Given the description of an element on the screen output the (x, y) to click on. 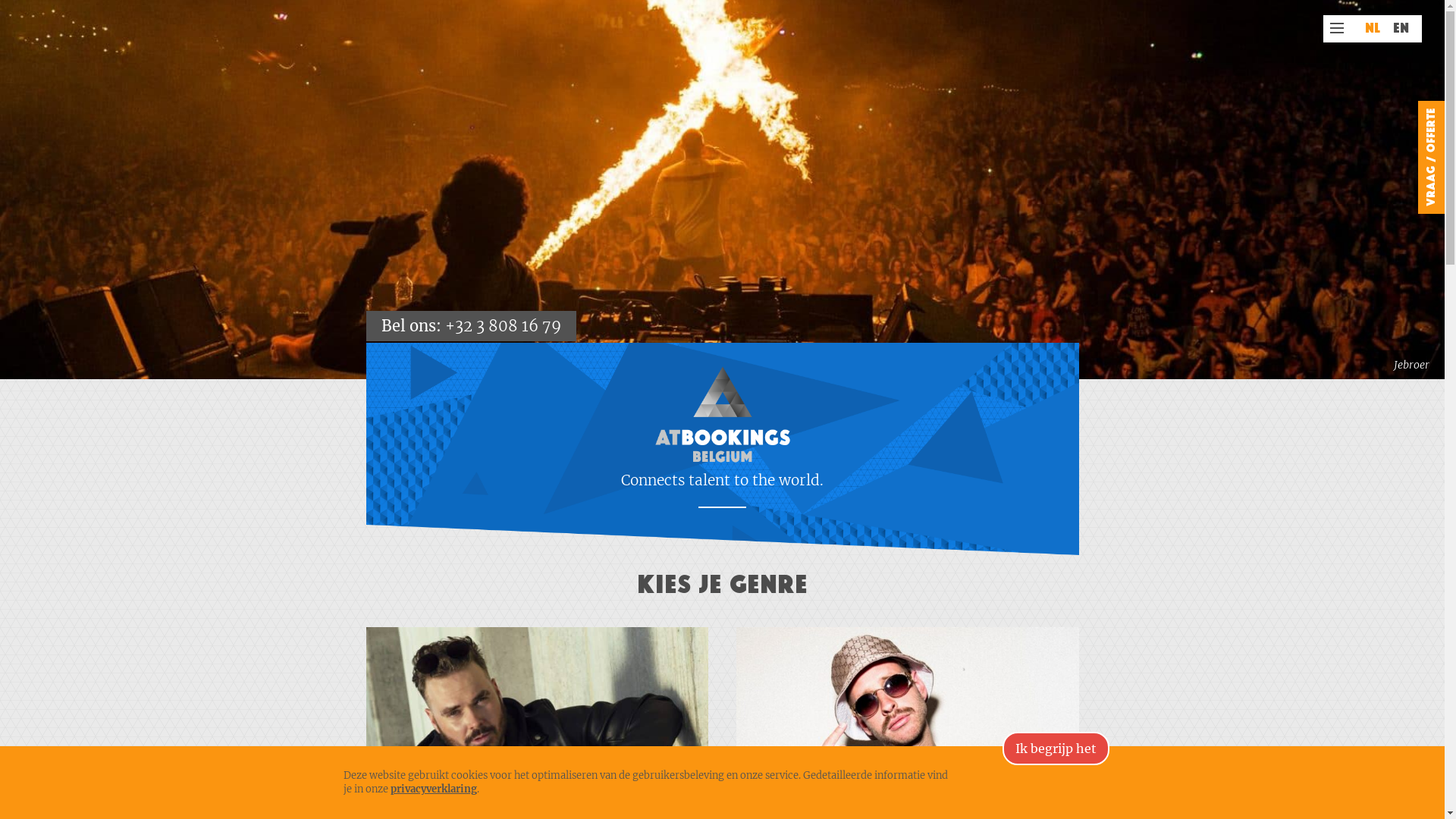
+32 3 808 16 79 Element type: text (502, 325)
privacyverklaring Element type: text (432, 788)
AT Bookings Element type: hover (721, 414)
Menu Element type: text (1336, 27)
EN Element type: text (1400, 28)
NL Element type: text (1372, 28)
